Given the description of an element on the screen output the (x, y) to click on. 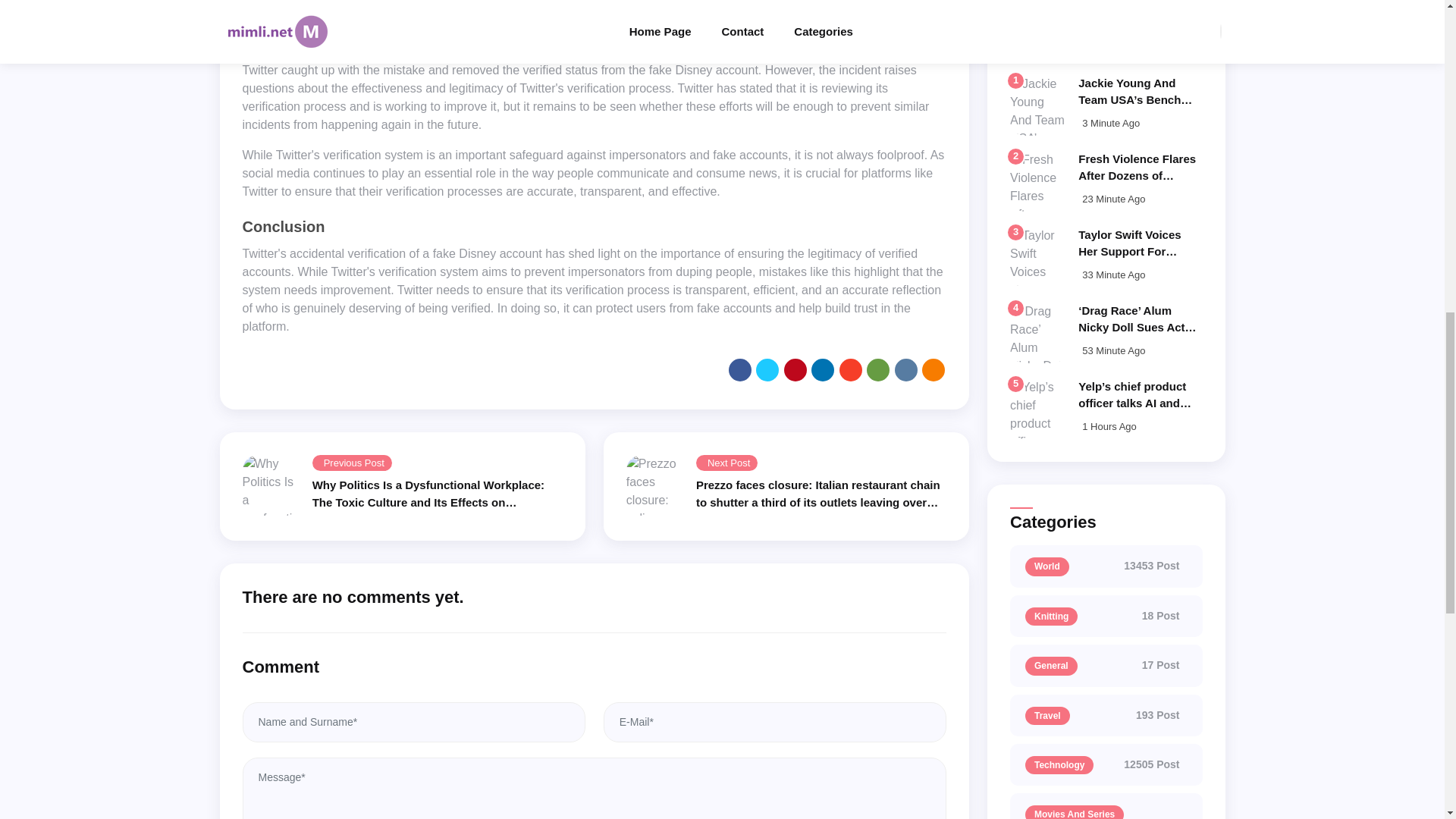
Previous Post (352, 463)
Next Post (726, 463)
